Given the description of an element on the screen output the (x, y) to click on. 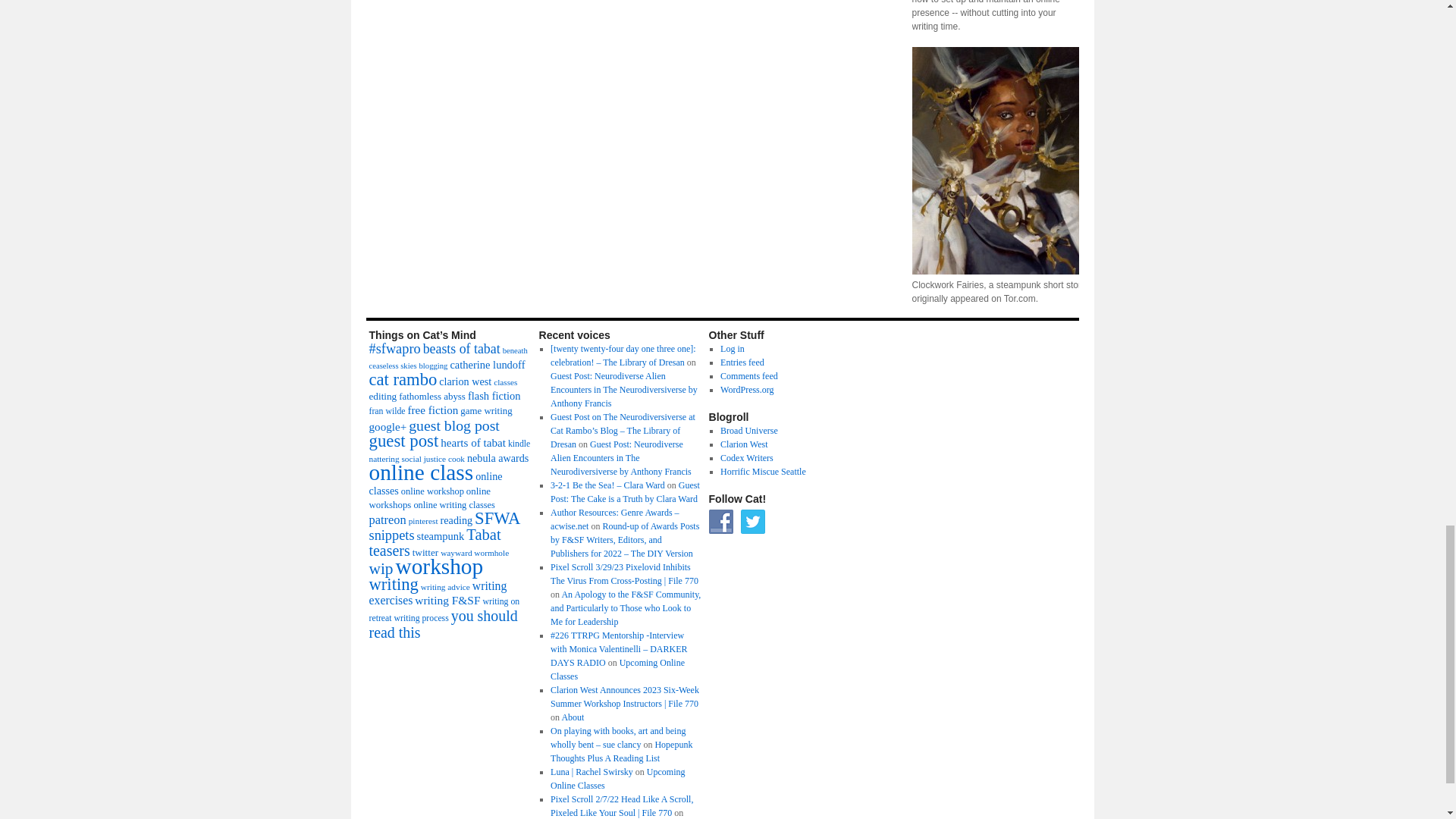
catherine lundoff (486, 364)
beneath ceaseless skies (447, 358)
blogging (433, 365)
beasts of tabat (461, 348)
cat rambo (402, 379)
